Given the description of an element on the screen output the (x, y) to click on. 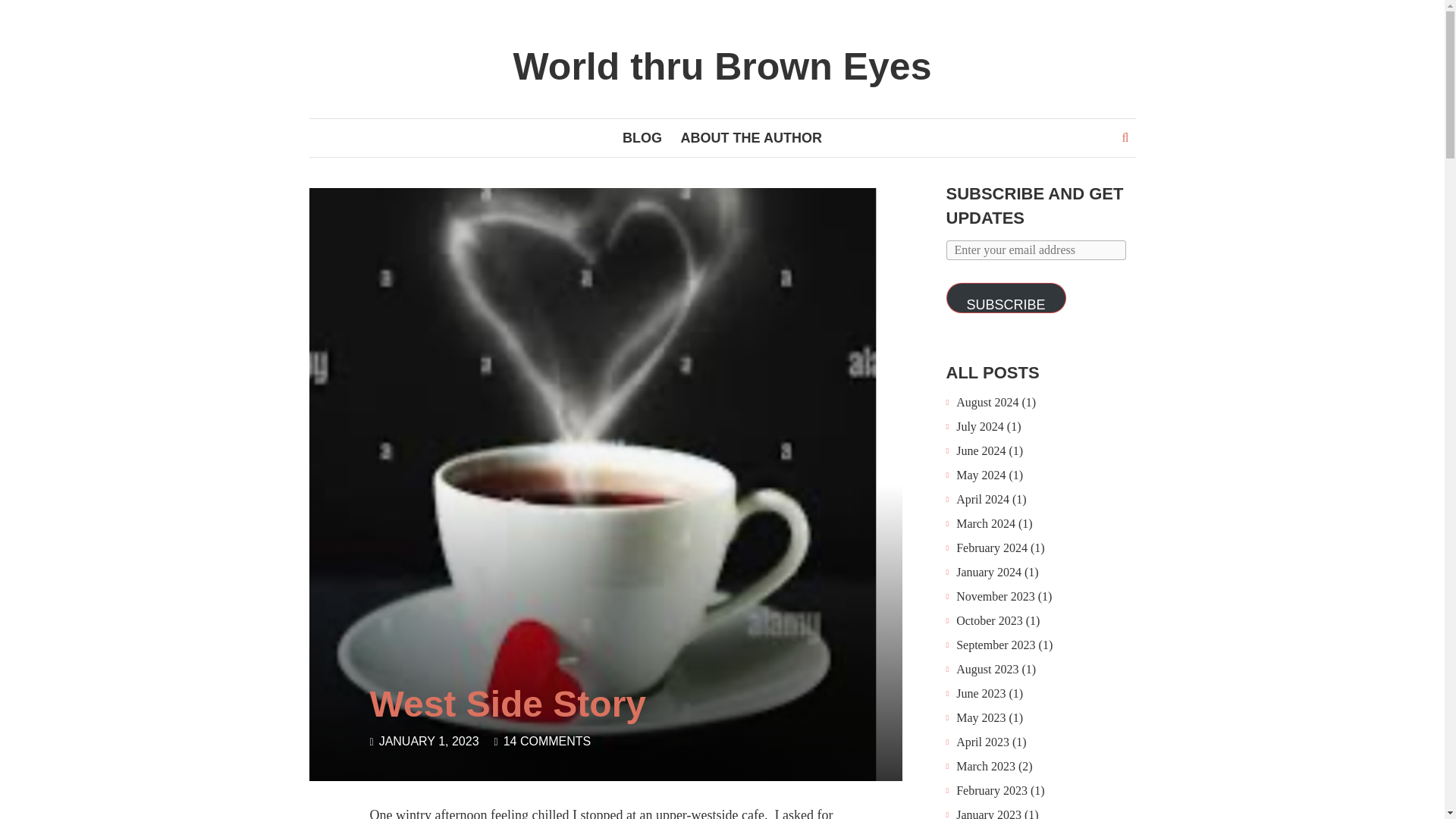
ABOUT THE AUTHOR (750, 137)
14 COMMENTS (547, 740)
BLOG (641, 137)
World thru Brown Eyes (722, 66)
